Given the description of an element on the screen output the (x, y) to click on. 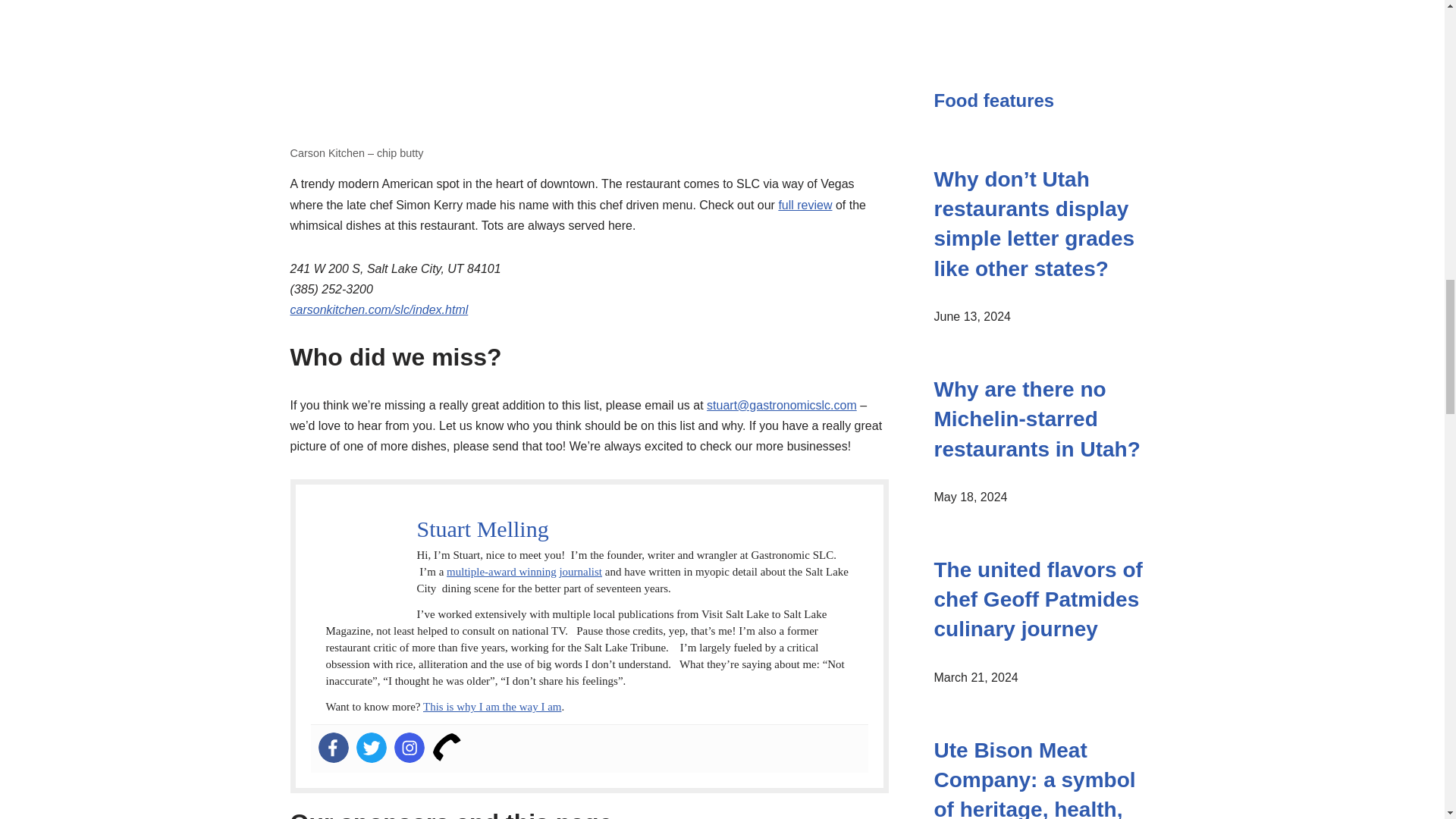
Instagram (409, 747)
full review (804, 205)
Facebook (333, 747)
Food features (994, 100)
This is why I am the way I am (491, 706)
Stuart Melling (482, 528)
Twitter (371, 747)
multiple-award winning journalist (524, 571)
Phone (447, 747)
